Given the description of an element on the screen output the (x, y) to click on. 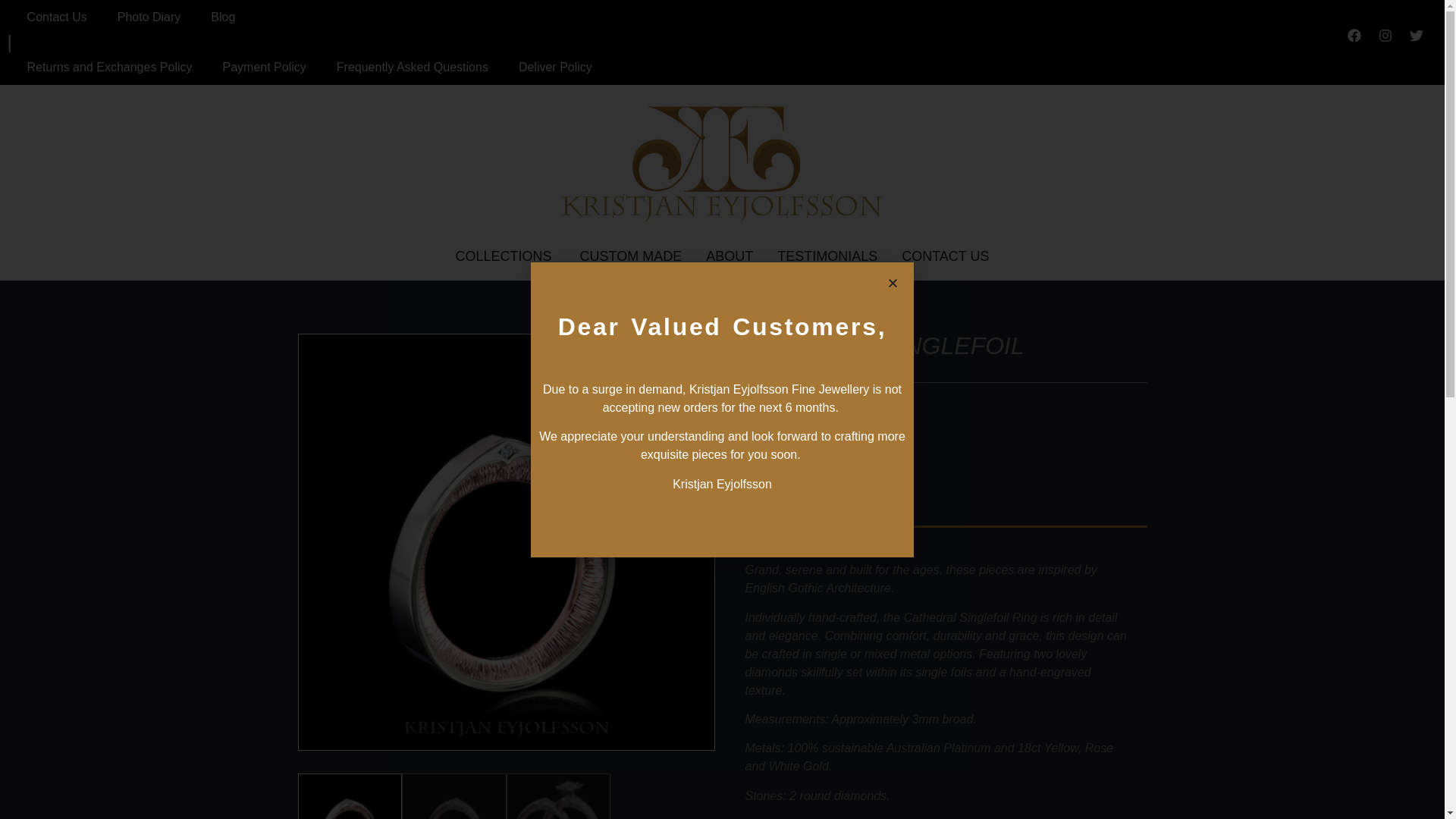
COLLECTIONS (502, 256)
Page 1 (937, 654)
Blog (222, 17)
ABOUT (729, 256)
CUSTOM MADE (630, 256)
Contact Us (56, 17)
Photo Diary (148, 17)
Payment Policy (264, 67)
Frequently Asked Questions (412, 67)
Deliver Policy (555, 67)
Returns and Exchanges Policy (109, 67)
CONTACT US (944, 256)
TESTIMONIALS (827, 256)
